Given the description of an element on the screen output the (x, y) to click on. 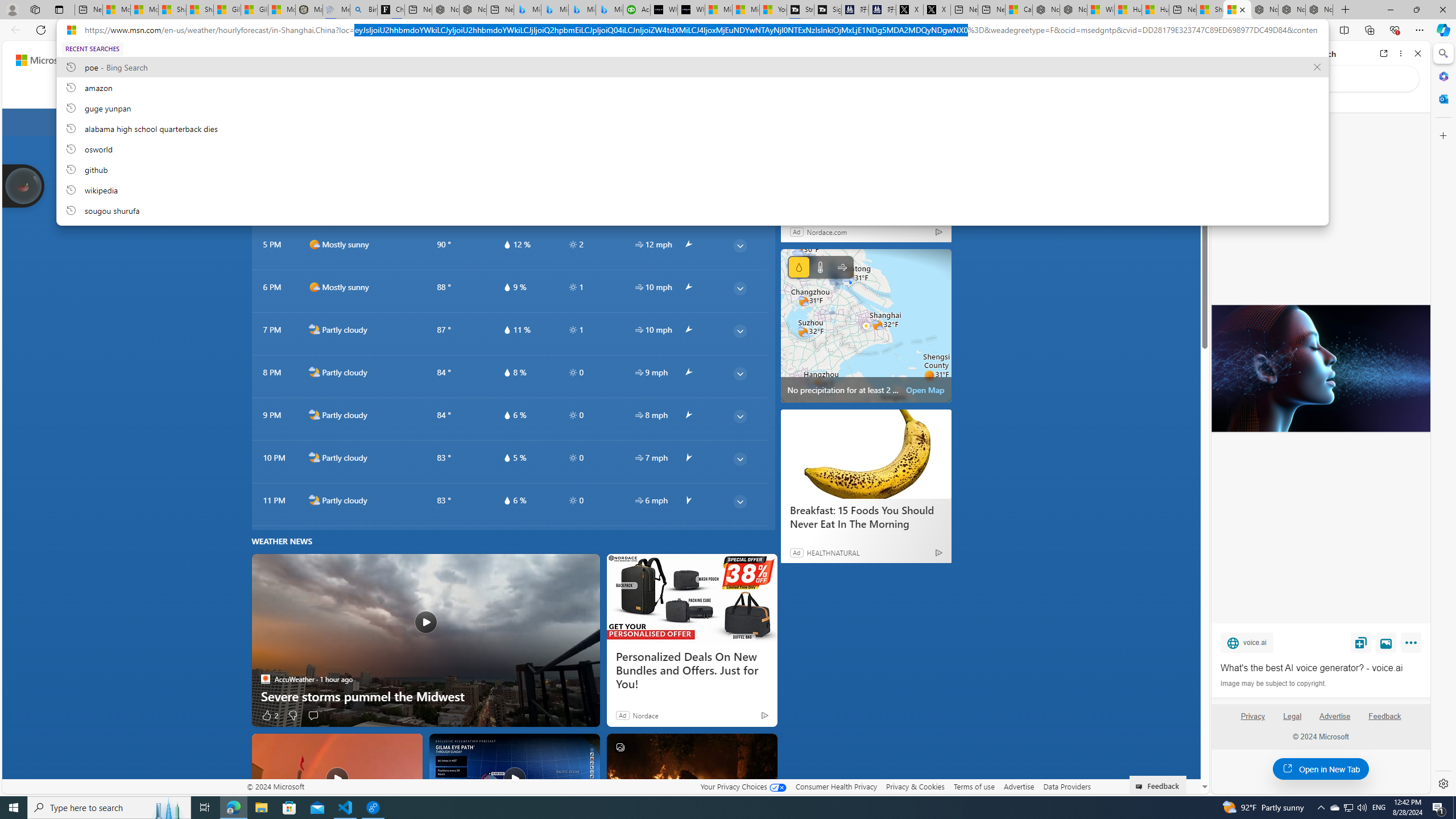
Save (1361, 642)
voice.ai (1247, 642)
Nordace - Summer Adventures 2024 (1073, 9)
n3200 (860, 121)
Start the conversation (312, 714)
More (1413, 644)
Following (248, 92)
common/thinArrow (739, 501)
Data Providers (1066, 785)
